Given the description of an element on the screen output the (x, y) to click on. 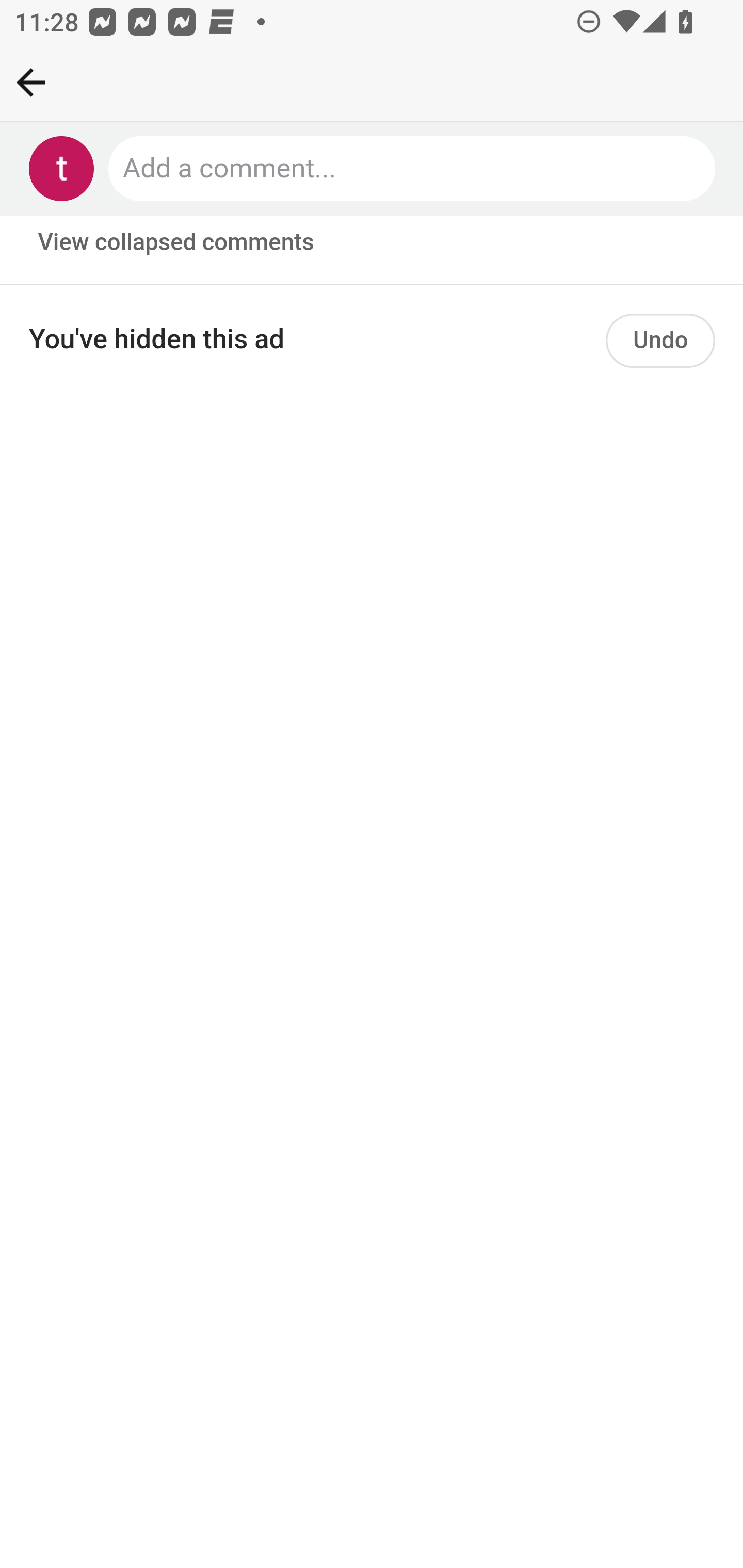
Back (30, 82)
Profile photo for Test Appium (61, 169)
Add a comment... (412, 169)
View collapsed comments (176, 243)
Undo (660, 343)
